Given the description of an element on the screen output the (x, y) to click on. 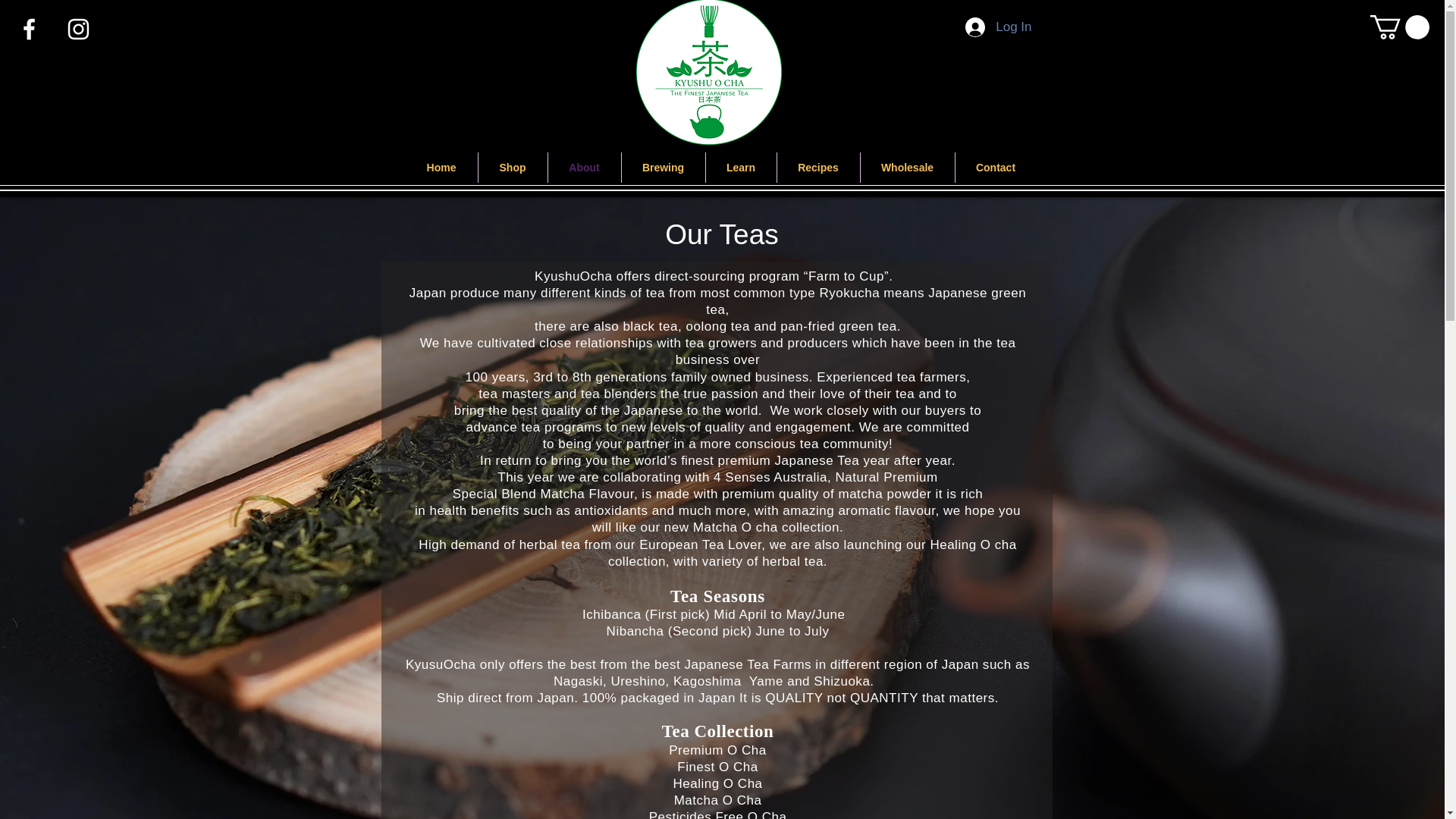
Learn (740, 167)
Brewing (662, 167)
Recipes (817, 167)
About (583, 167)
Home (440, 167)
Log In (998, 27)
Shop (512, 167)
